Given the description of an element on the screen output the (x, y) to click on. 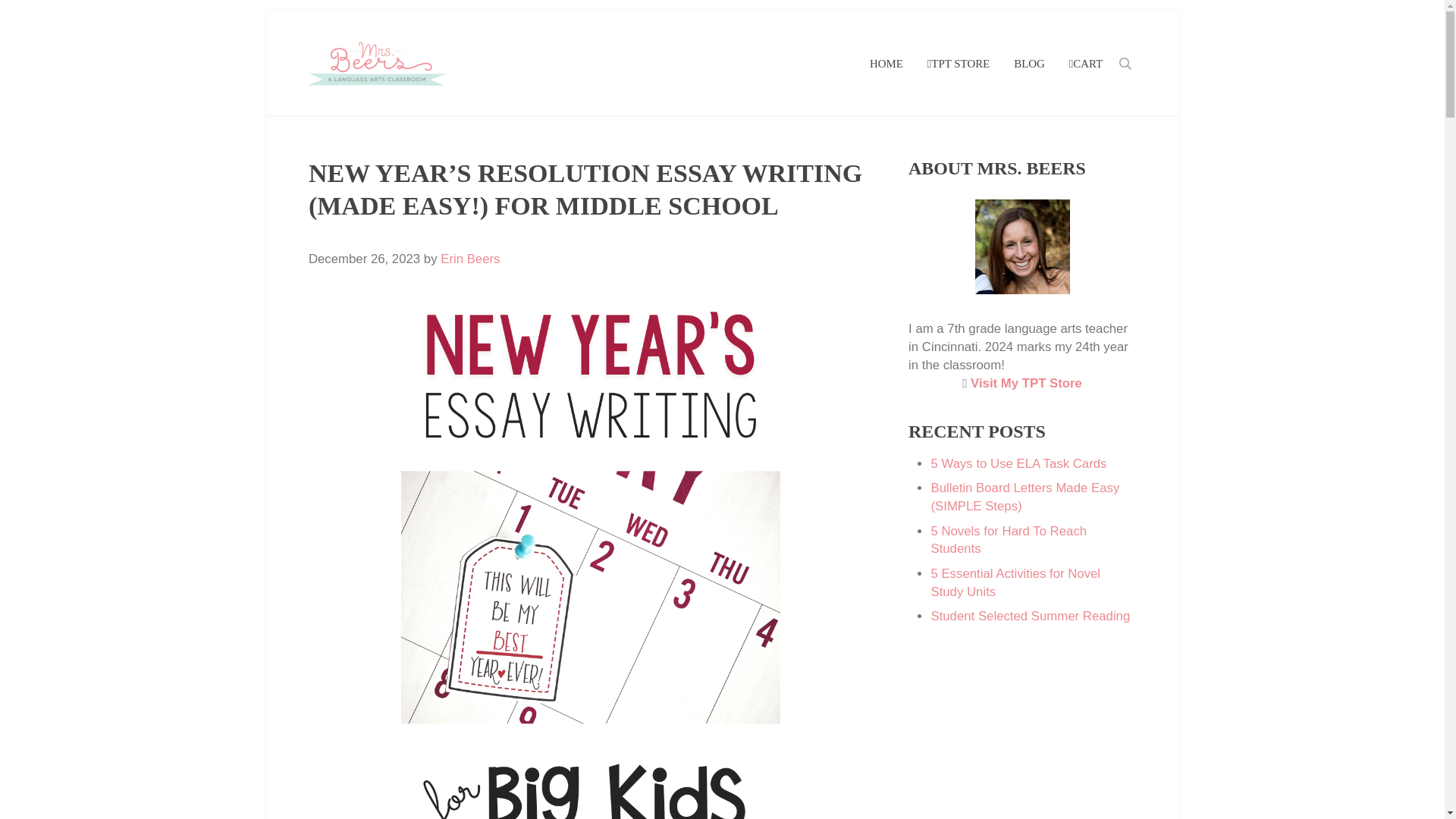
5 Ways to Use ELA Task Cards (1018, 463)
Erin Beers (470, 258)
Visit My TPT Store (1026, 382)
BLOG (1029, 63)
HOME (886, 63)
